Given the description of an element on the screen output the (x, y) to click on. 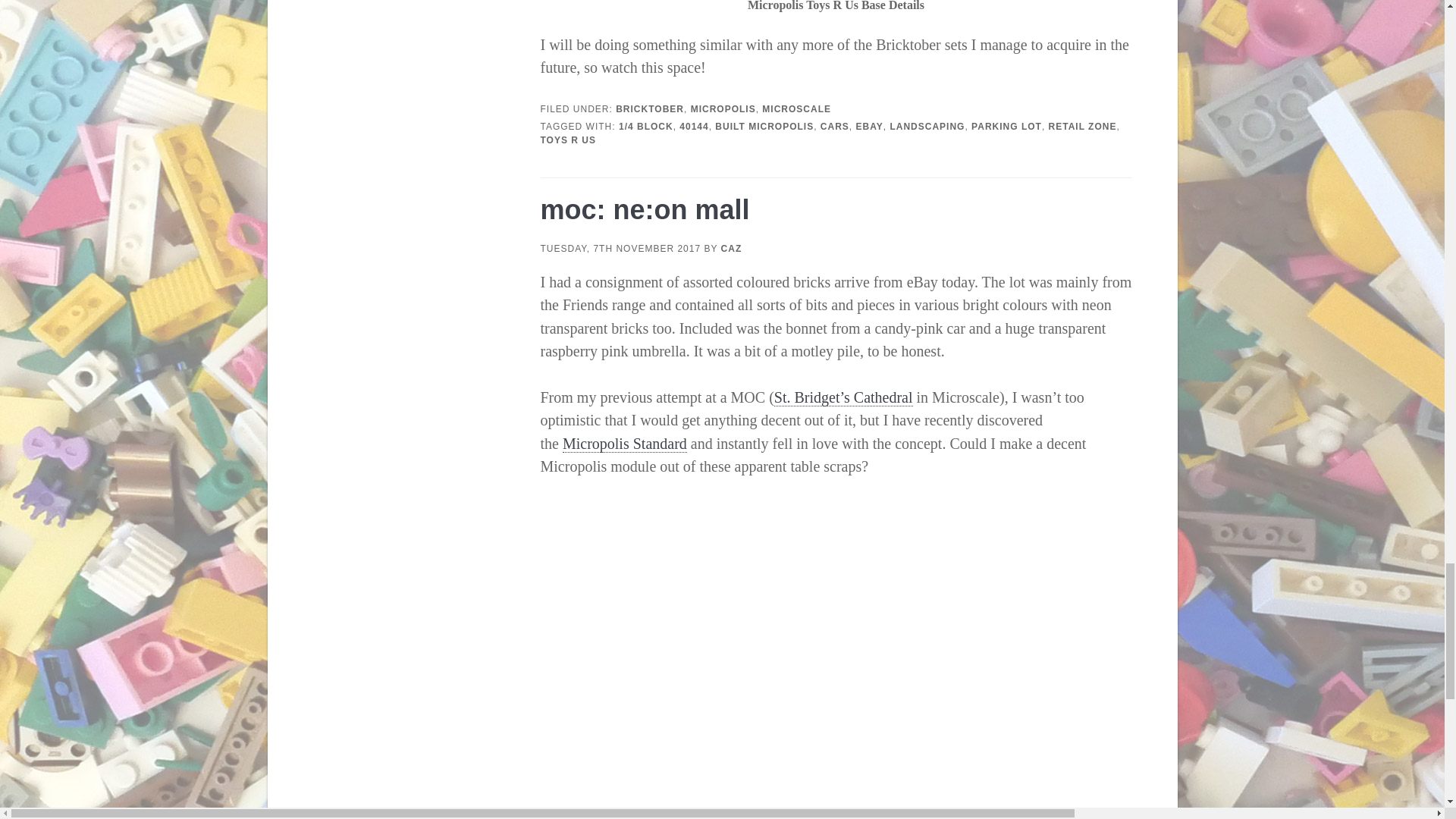
RETAIL ZONE (1082, 126)
LANDSCAPING (926, 126)
BRICKTOBER (649, 109)
PARKING LOT (1006, 126)
MICROSCALE (796, 109)
EBAY (869, 126)
Micropolis Standard (624, 443)
BUILT MICROPOLIS (763, 126)
CAZ (731, 248)
CARS (834, 126)
